Given the description of an element on the screen output the (x, y) to click on. 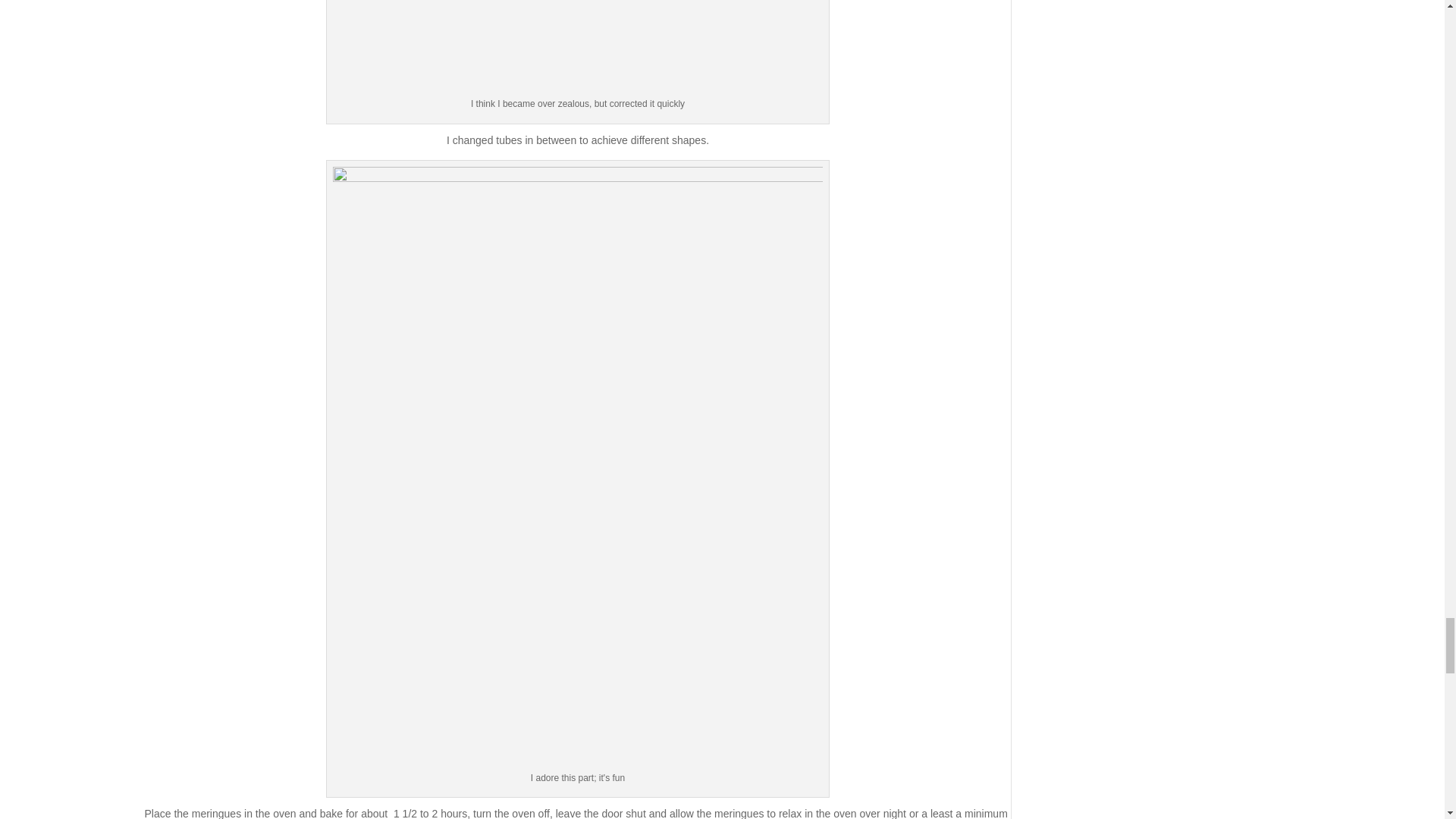
meringuepiping2212 (577, 47)
